Given the description of an element on the screen output the (x, y) to click on. 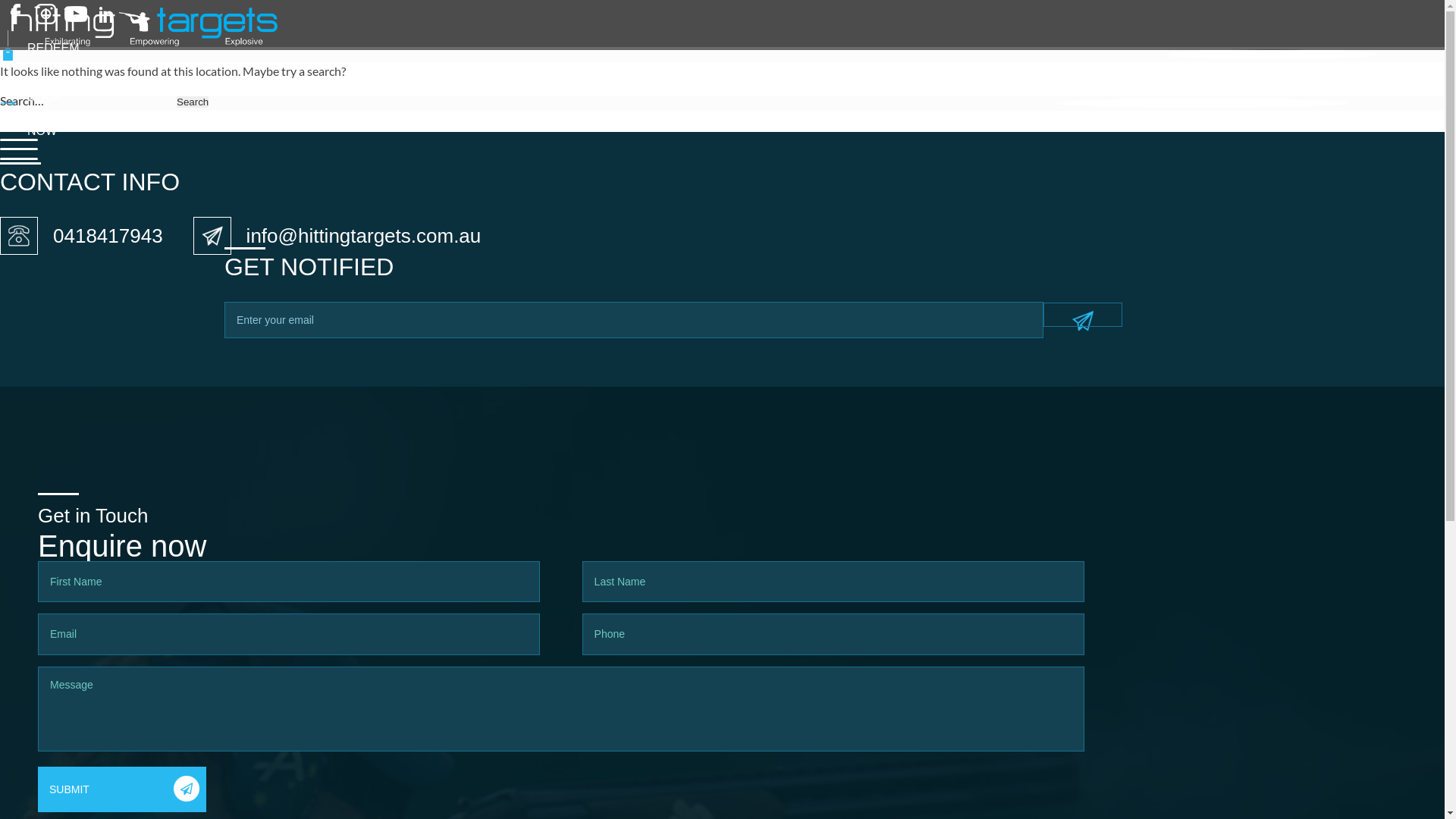
Send Element type: text (1082, 314)
About Us Element type: text (756, 415)
BOOK NOW Element type: text (722, 102)
Crew Element type: text (746, 415)
Shooting Packages Element type: text (781, 415)
Session Times Element type: text (770, 415)
Getting Here Element type: text (765, 415)
Contact Element type: text (752, 415)
Coaching With Hitting Targets Element type: text (807, 415)
Gift Vouchers Element type: text (766, 415)
Coaching Program Element type: text (780, 415)
FAQ Element type: text (744, 415)
Terms & Conditions Element type: text (782, 415)
Media Element type: text (748, 415)
REDEEM VOUCHER Element type: text (722, 54)
Gallery Element type: text (751, 415)
0418417943 Element type: text (108, 235)
SUBMIT Element type: text (121, 789)
Join a Club Element type: text (761, 415)
Search Element type: text (192, 101)
Get a License Element type: text (768, 415)
Archive Element type: text (751, 415)
info@hittingtargets.com.au Element type: text (363, 235)
Merchandise Element type: text (765, 415)
